Given the description of an element on the screen output the (x, y) to click on. 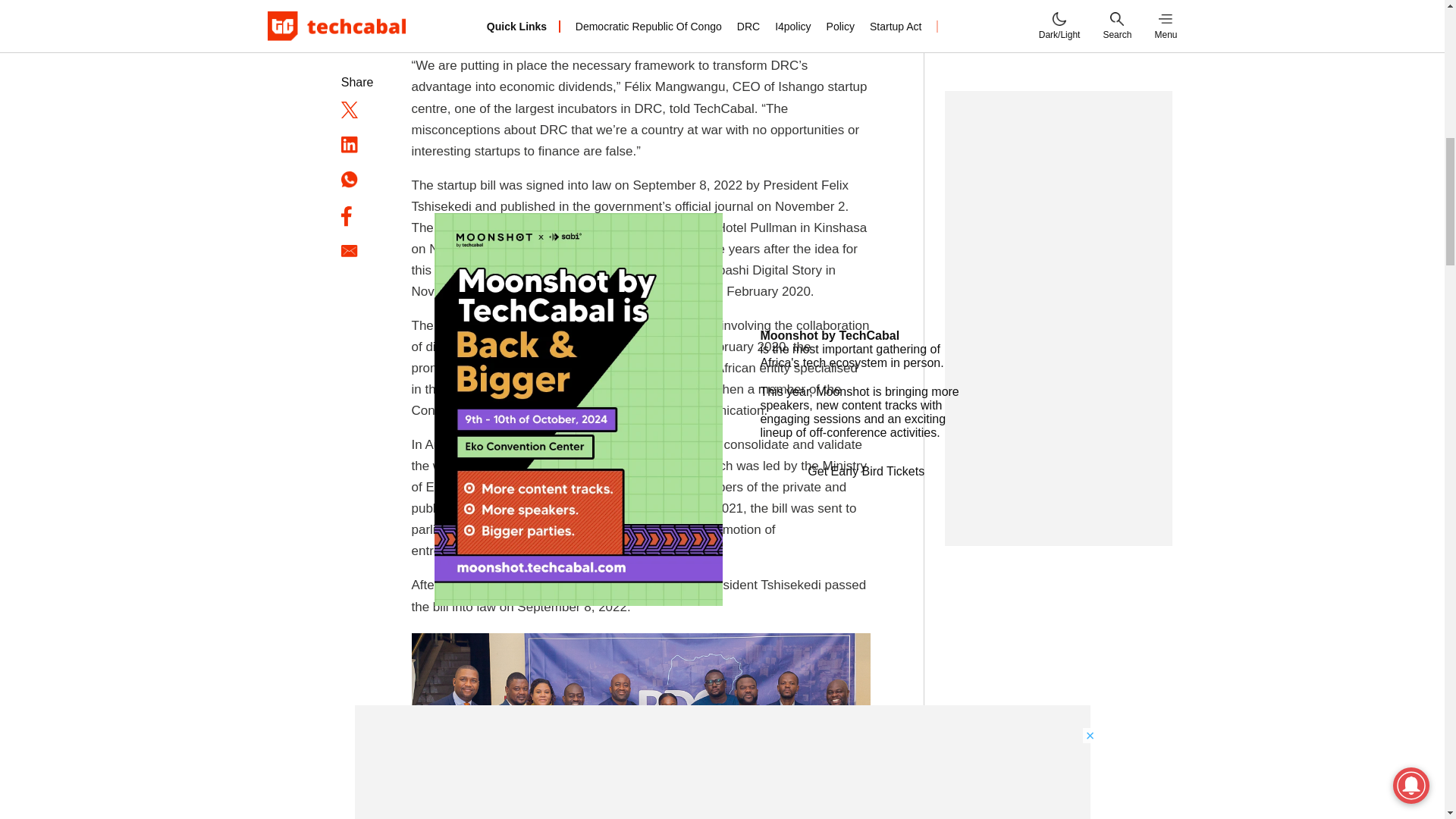
3rd party ad content (1058, 147)
